Given the description of an element on the screen output the (x, y) to click on. 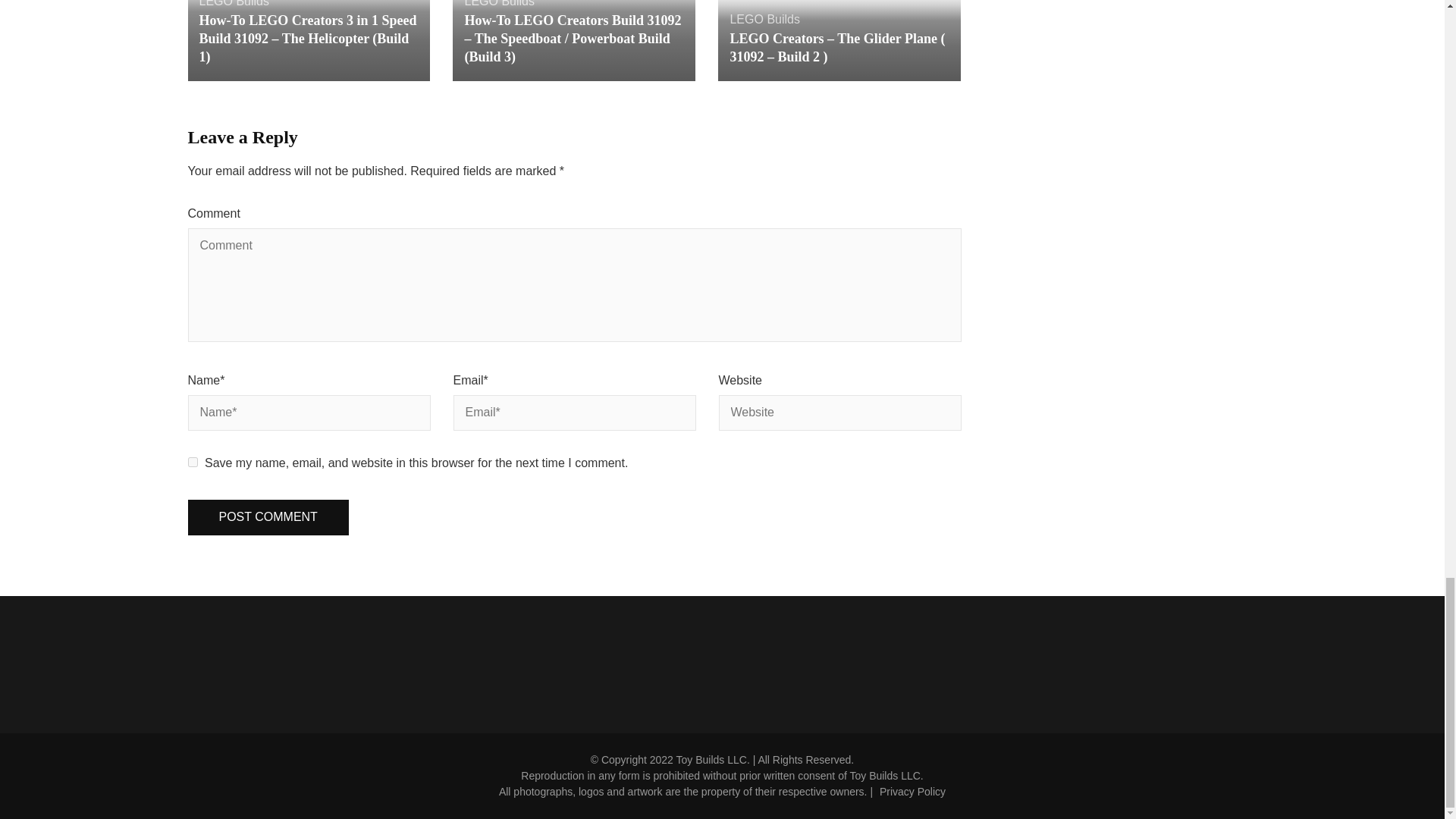
yes (192, 461)
LEGO Builds (499, 3)
Post Comment (268, 517)
LEGO Builds (764, 19)
LEGO Builds (232, 3)
Post Comment (268, 517)
